Given the description of an element on the screen output the (x, y) to click on. 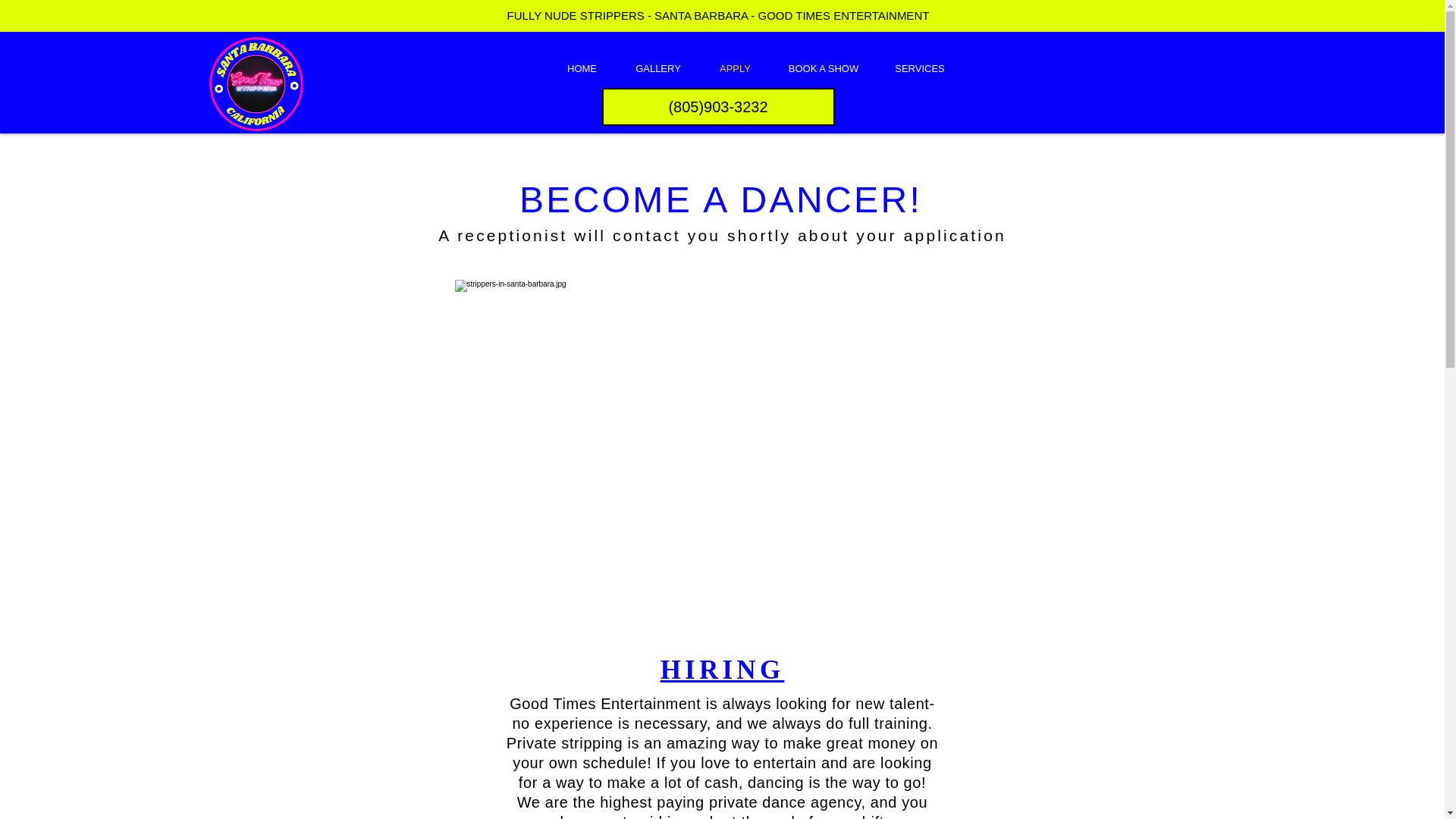
SERVICES (919, 68)
HOME (581, 68)
BOOK A SHOW (823, 68)
APPLY (735, 68)
GALLERY (657, 68)
